Given the description of an element on the screen output the (x, y) to click on. 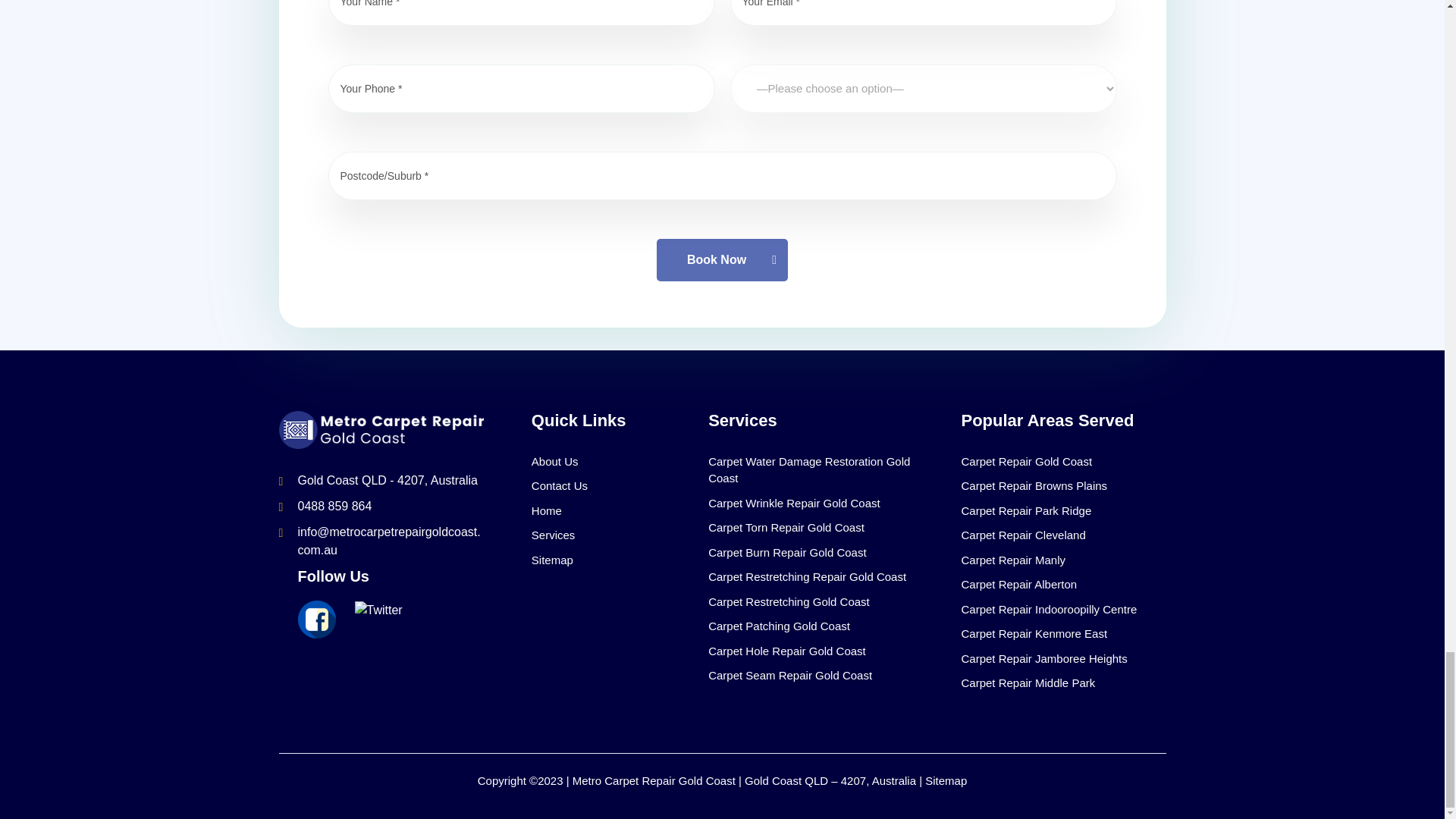
0488 859 864 (334, 505)
Book Now (721, 260)
